Given the description of an element on the screen output the (x, y) to click on. 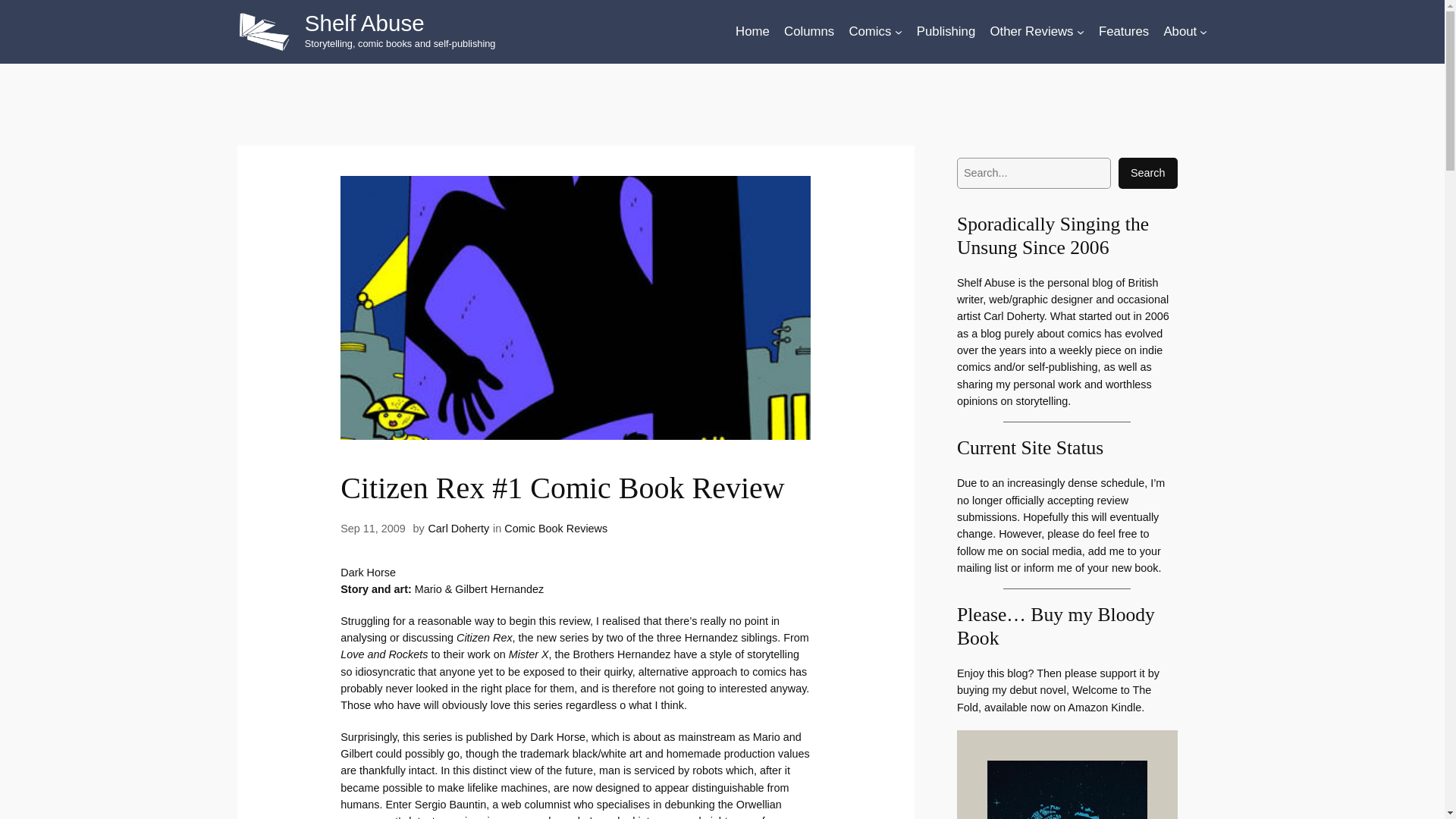
About (1179, 31)
Features (1123, 31)
Carl Doherty (458, 528)
Other Reviews (1031, 31)
Shelf Abuse (364, 23)
Comic Book Reviews (555, 528)
Sep 11, 2009 (373, 528)
Columns (809, 31)
Comics (869, 31)
Home (752, 31)
Publishing (946, 31)
